Given the description of an element on the screen output the (x, y) to click on. 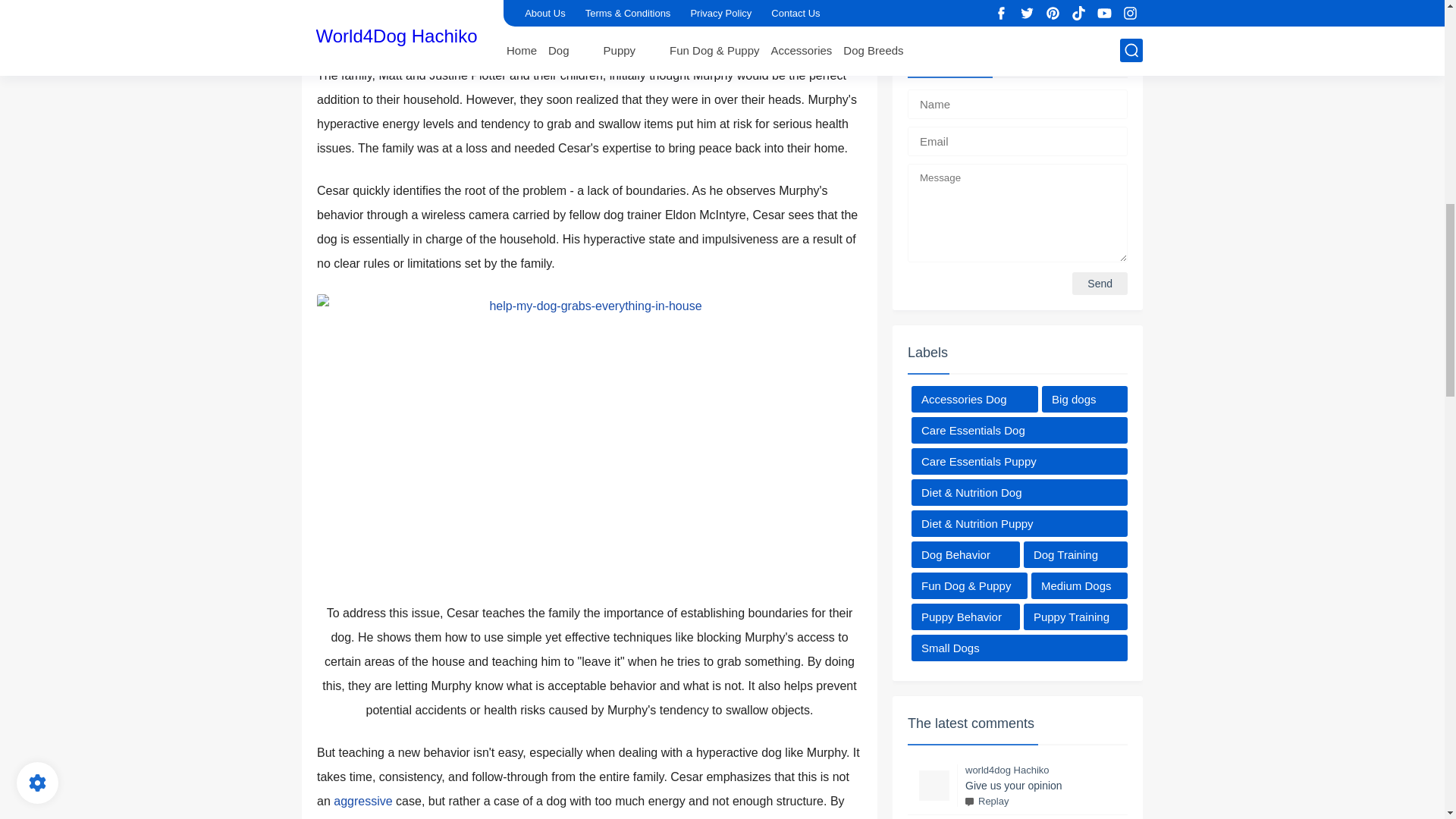
Send (1098, 282)
